Given the description of an element on the screen output the (x, y) to click on. 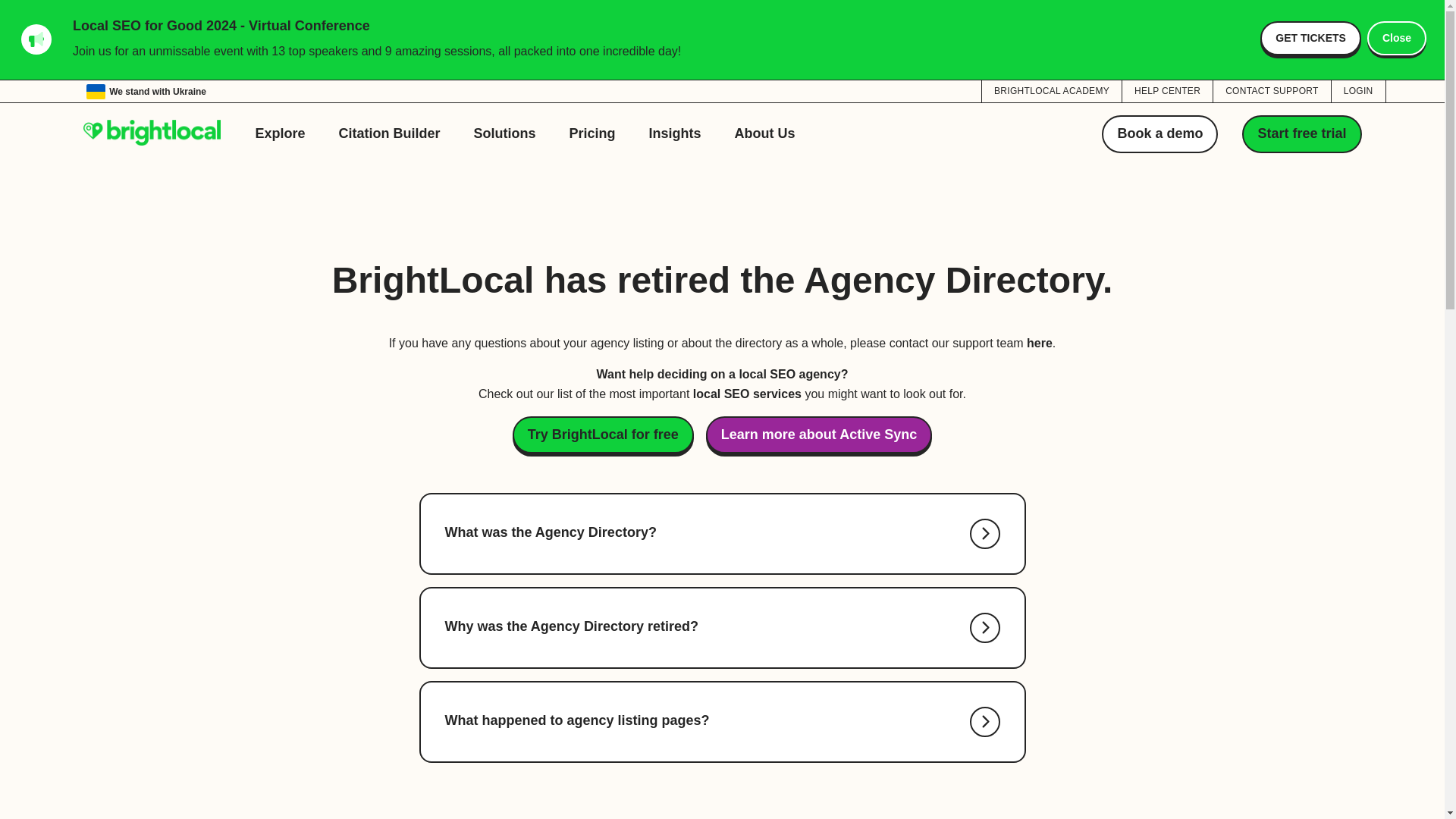
BRIGHTLOCAL ACADEMY (1051, 90)
HELP CENTER (1167, 90)
LOGIN (1359, 90)
Citation Builder (390, 134)
GET TICKETS (1310, 38)
GET TICKETS (1310, 38)
Explore (279, 134)
We stand with Ukraine (145, 91)
Solutions (505, 134)
CONTACT SUPPORT (1271, 90)
